Given the description of an element on the screen output the (x, y) to click on. 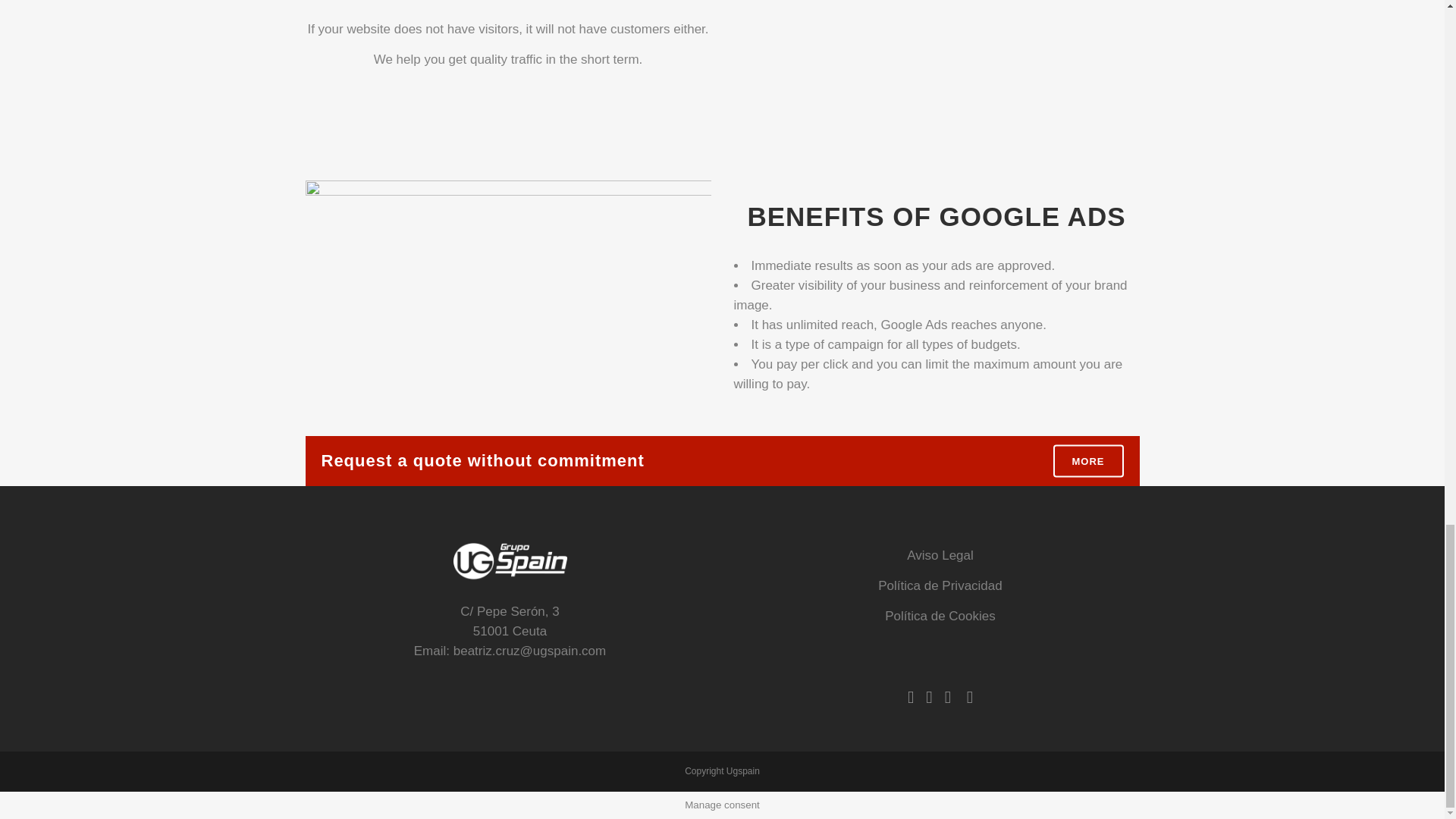
Aviso Legal (940, 554)
MORE (1087, 460)
agencia-publicidad-ceuta (507, 286)
